Given the description of an element on the screen output the (x, y) to click on. 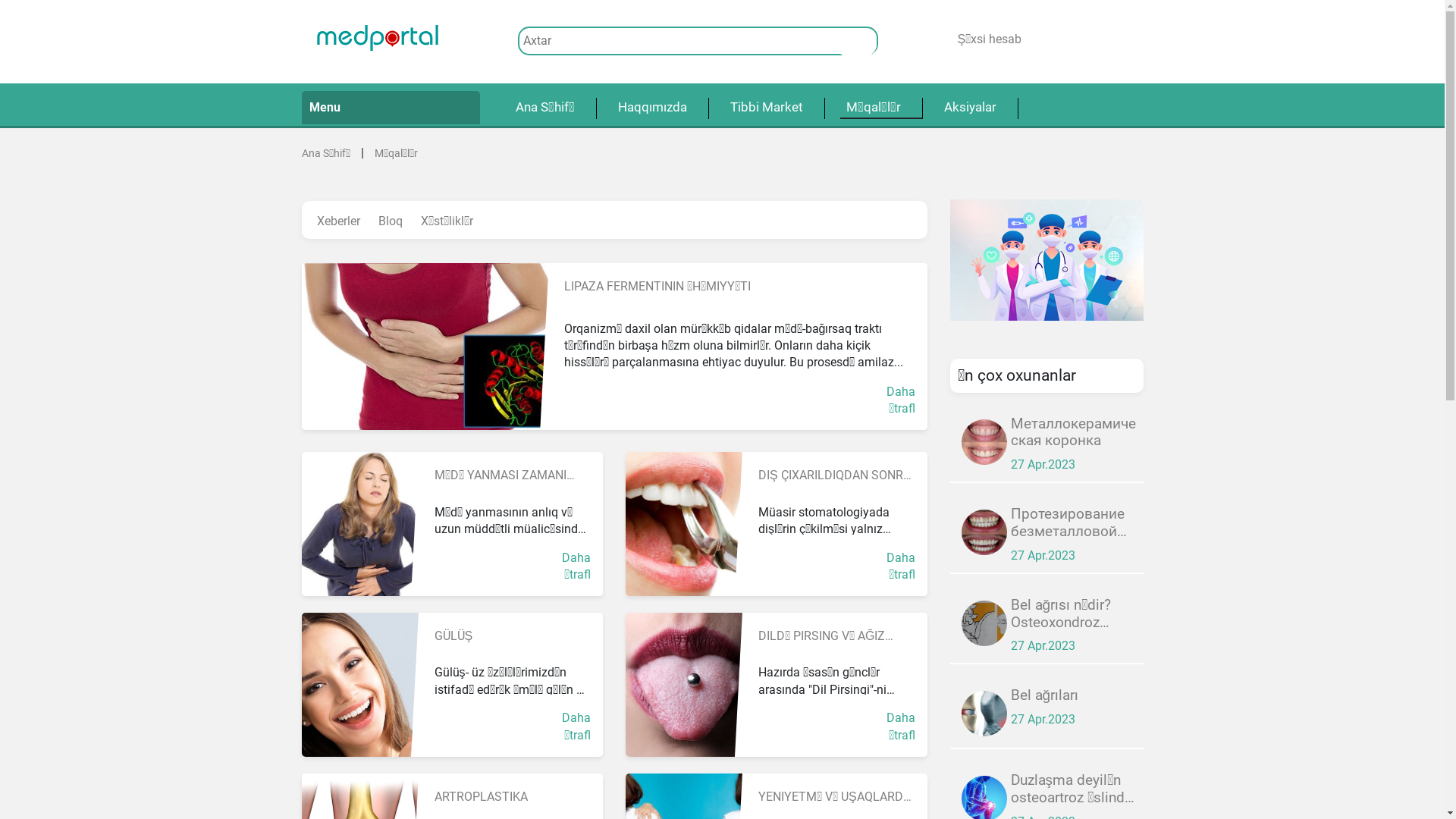
Bloq Element type: text (389, 221)
ARTROPLASTIKA Element type: text (480, 796)
Aksiyalar Element type: text (969, 107)
Xeberler Element type: text (338, 221)
Tibbi Market Element type: text (765, 107)
